Given the description of an element on the screen output the (x, y) to click on. 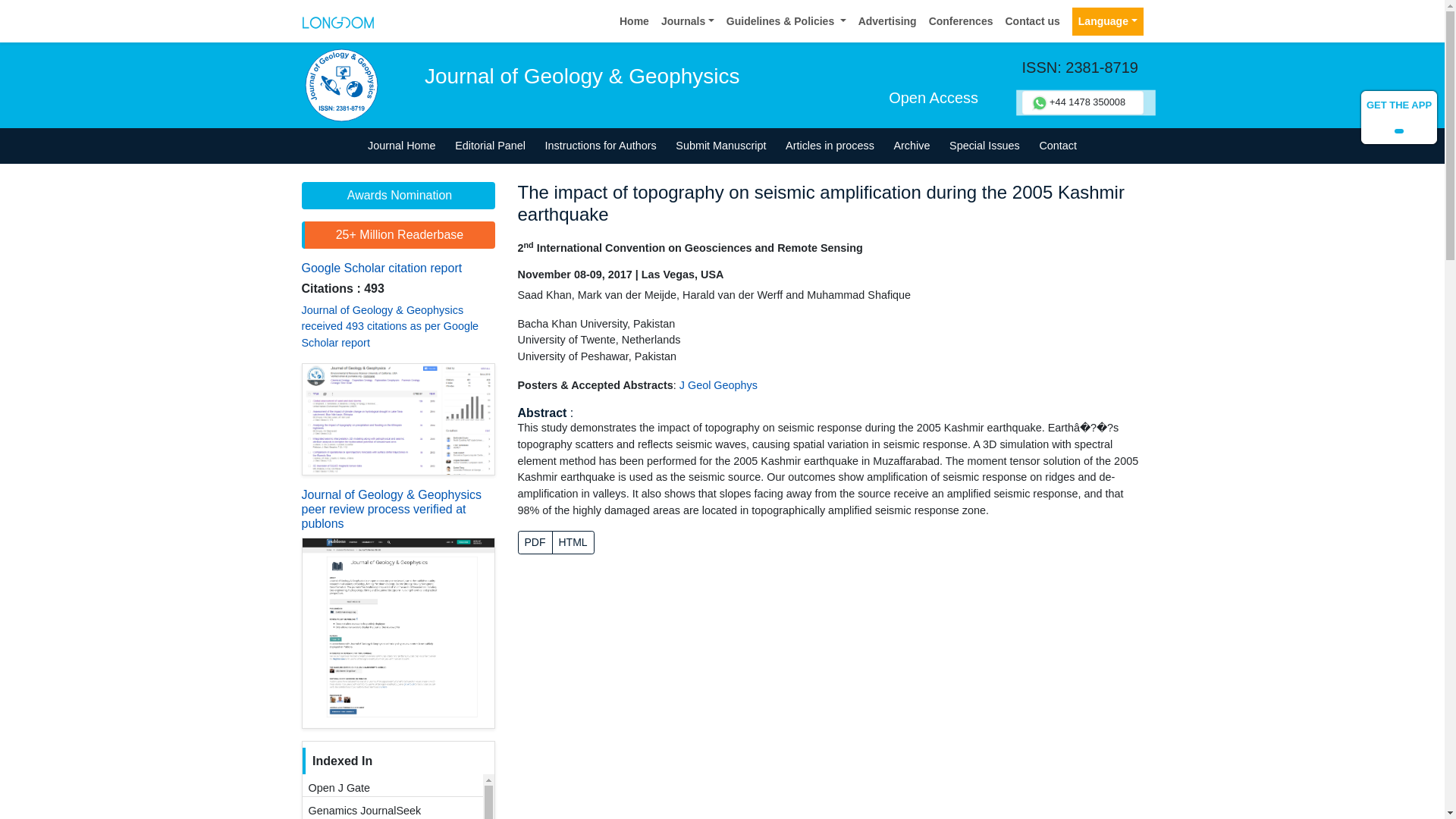
Contact us (1031, 21)
Conferences (960, 21)
Advertising (887, 21)
Journal Home (401, 145)
Archive (911, 145)
Longdom Publishing S.L (337, 20)
Instructions for Authors (600, 145)
Contact us (1031, 21)
Submit Manuscript (721, 145)
Home (633, 21)
Articles in process (829, 145)
Editorial Panel (489, 145)
Advertising (887, 21)
Home (633, 21)
Journals (687, 21)
